Given the description of an element on the screen output the (x, y) to click on. 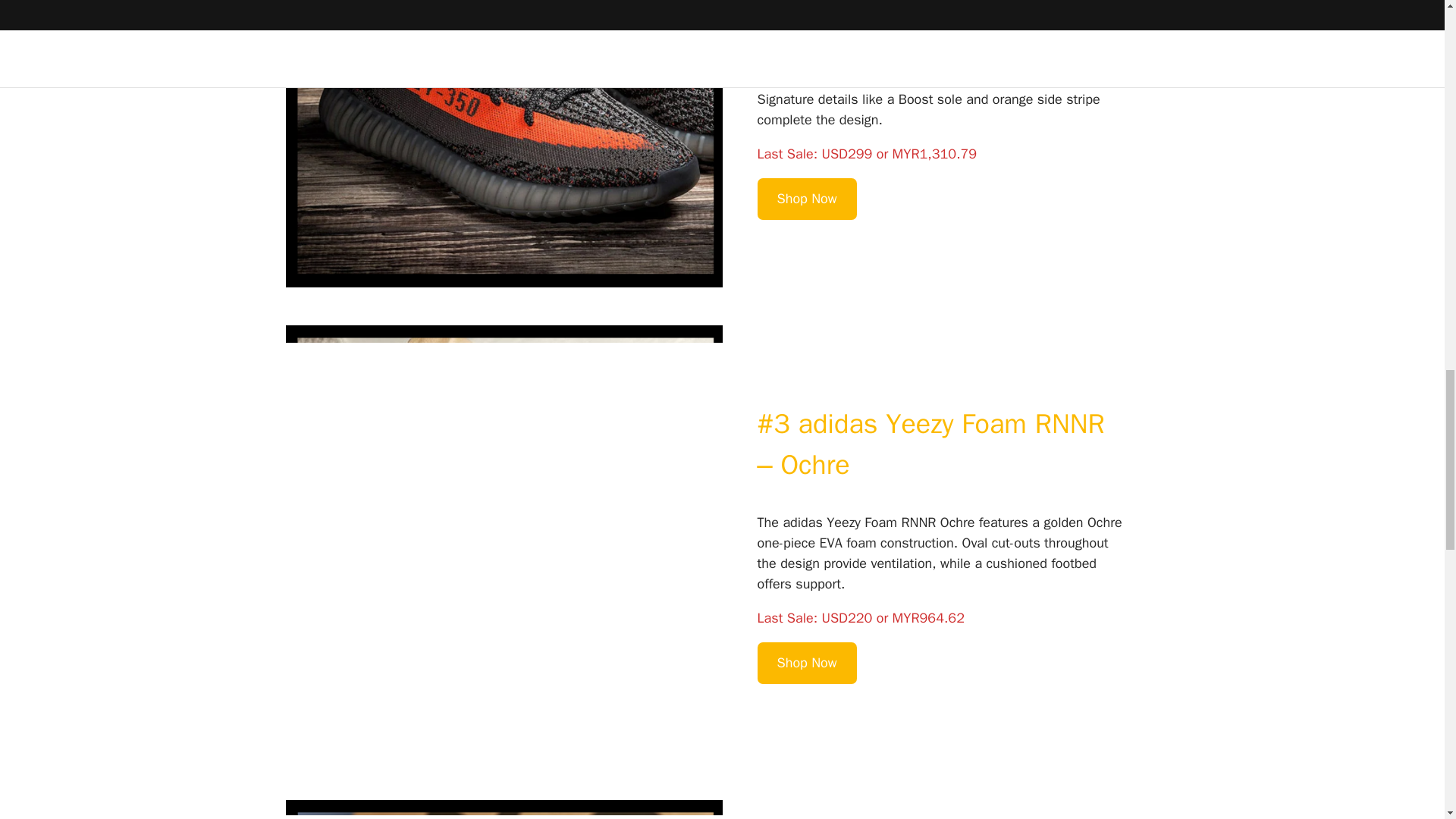
Shop Now (807, 662)
Shop Now (807, 198)
